Given the description of an element on the screen output the (x, y) to click on. 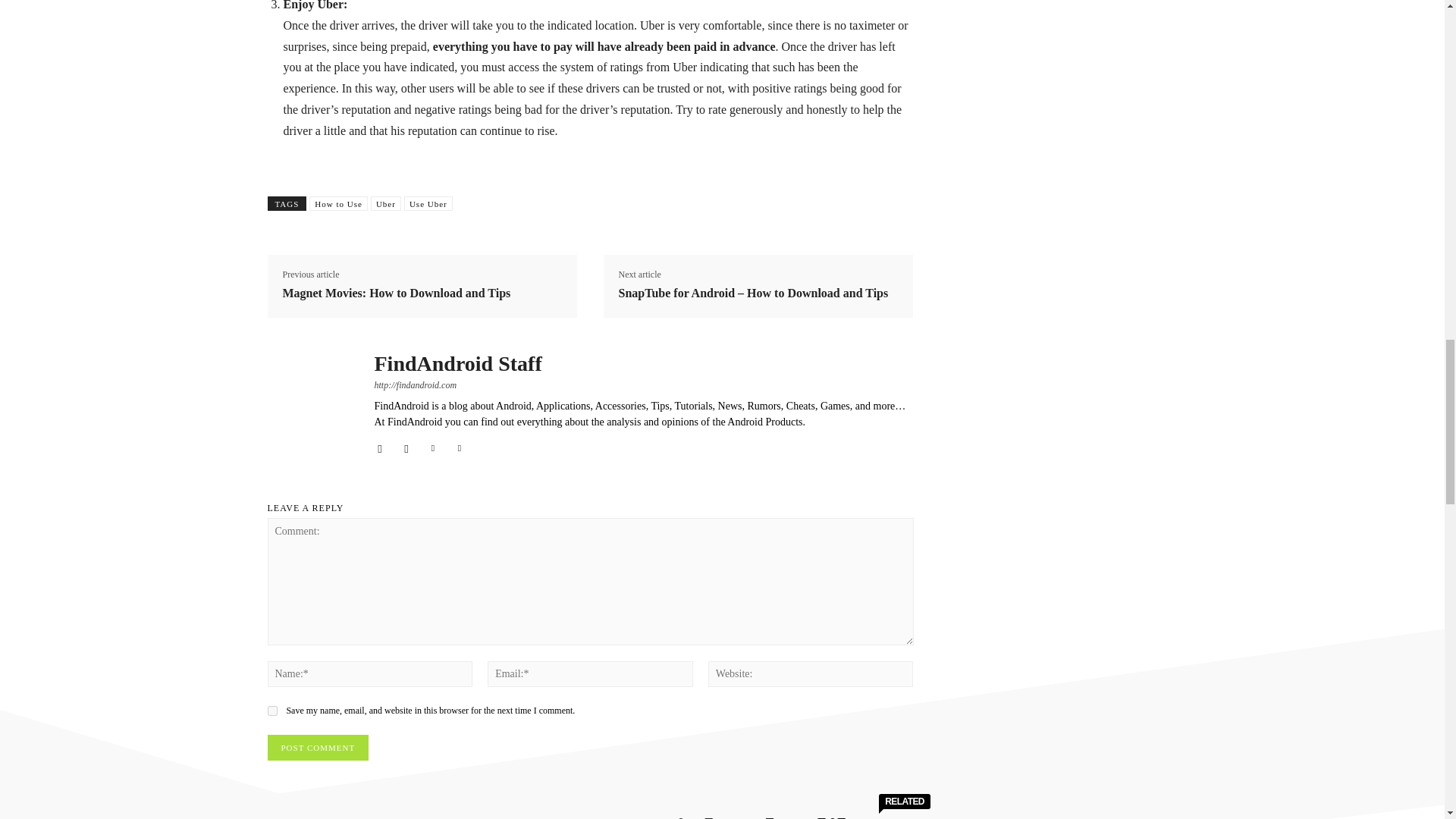
pinterest (433, 446)
yes (271, 710)
twitter (458, 446)
Post Comment (317, 747)
facebook (379, 446)
instagram (406, 446)
